Given the description of an element on the screen output the (x, y) to click on. 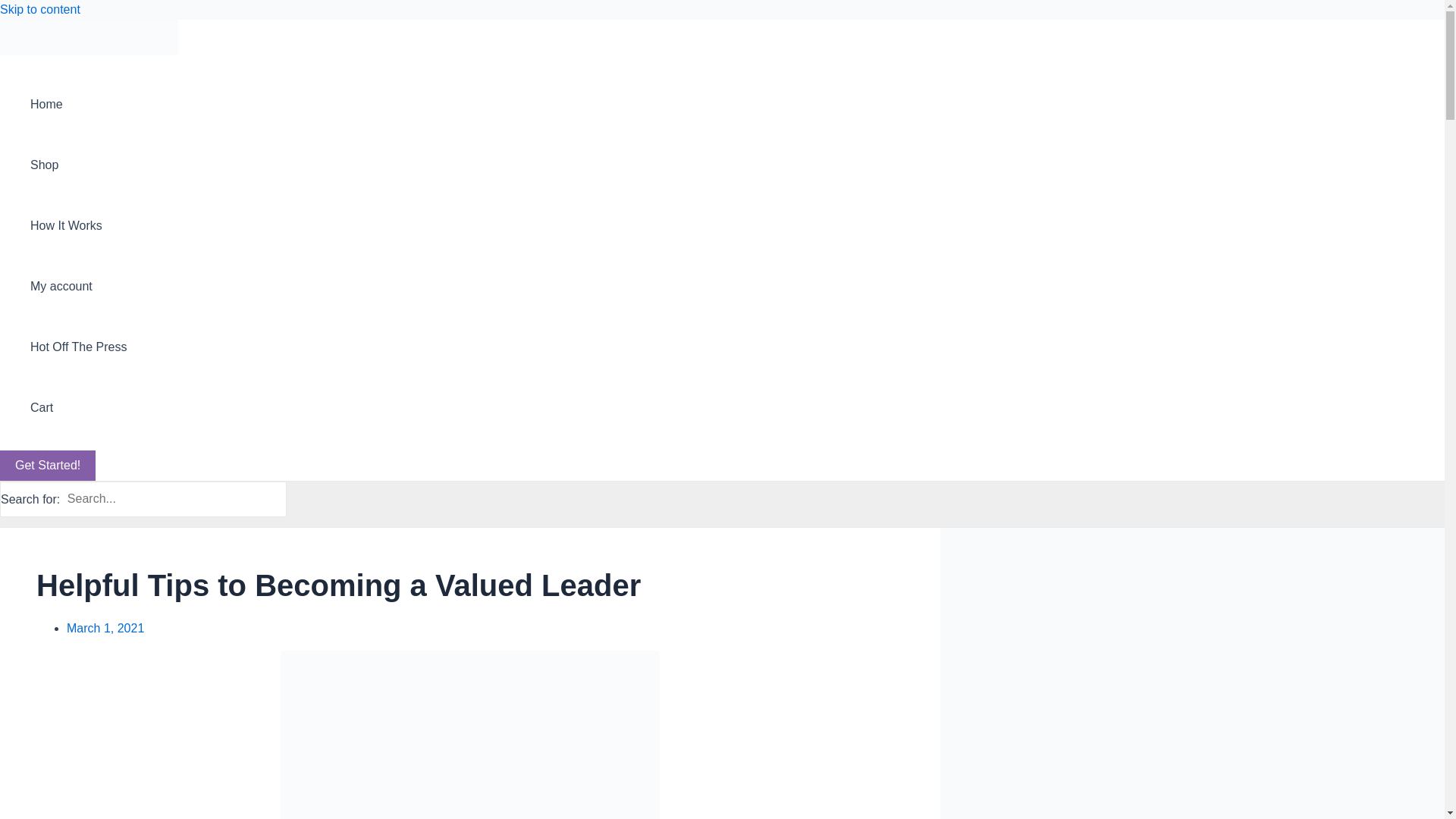
Skip to content (40, 9)
Cart (78, 407)
Shop (78, 165)
Get Started! (48, 465)
Hot Off The Press (78, 346)
March 1, 2021 (105, 627)
Skip to content (40, 9)
Home (78, 104)
How It Works (78, 225)
My account (78, 286)
